Given the description of an element on the screen output the (x, y) to click on. 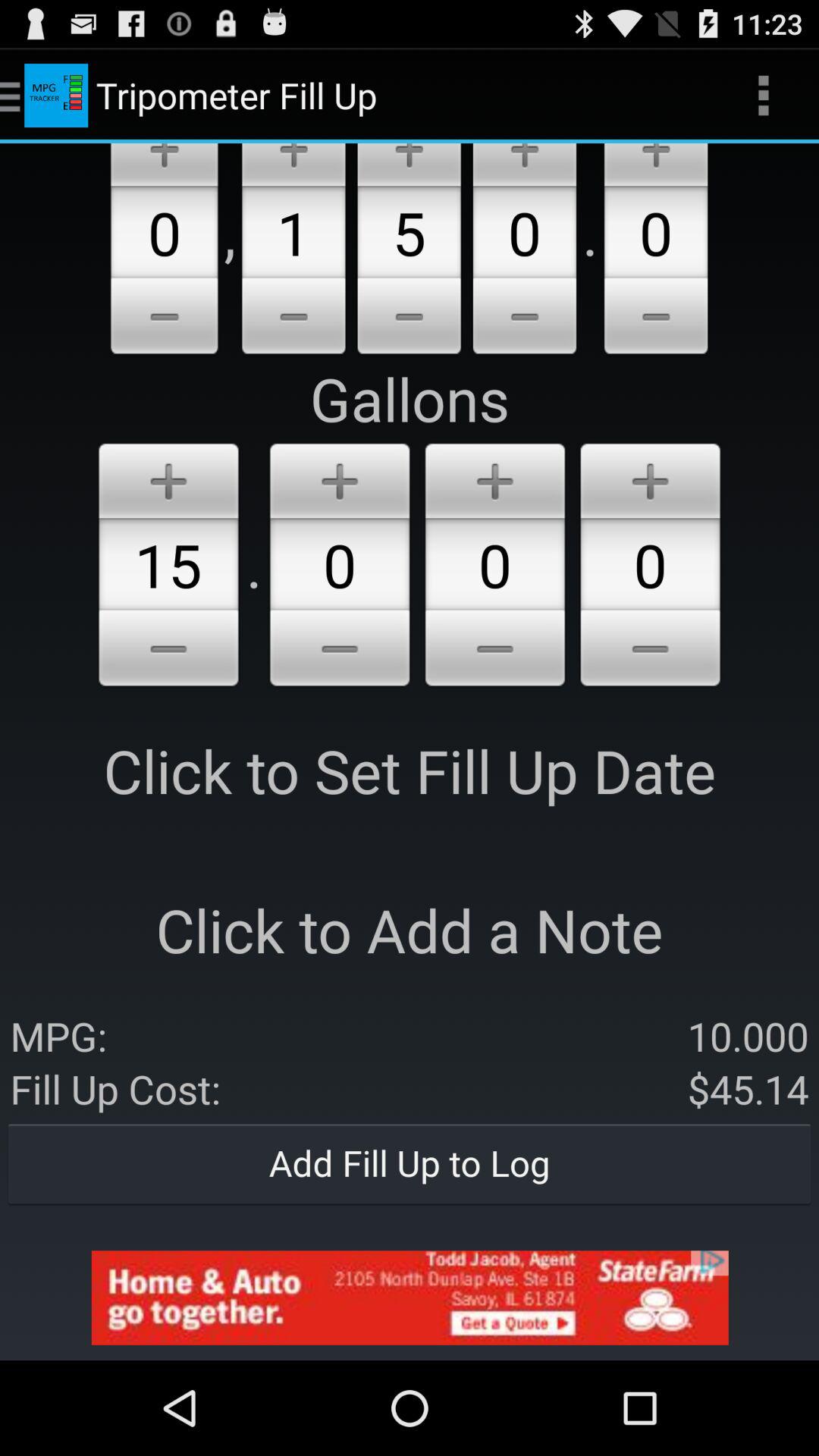
click the add option (164, 164)
